Given the description of an element on the screen output the (x, y) to click on. 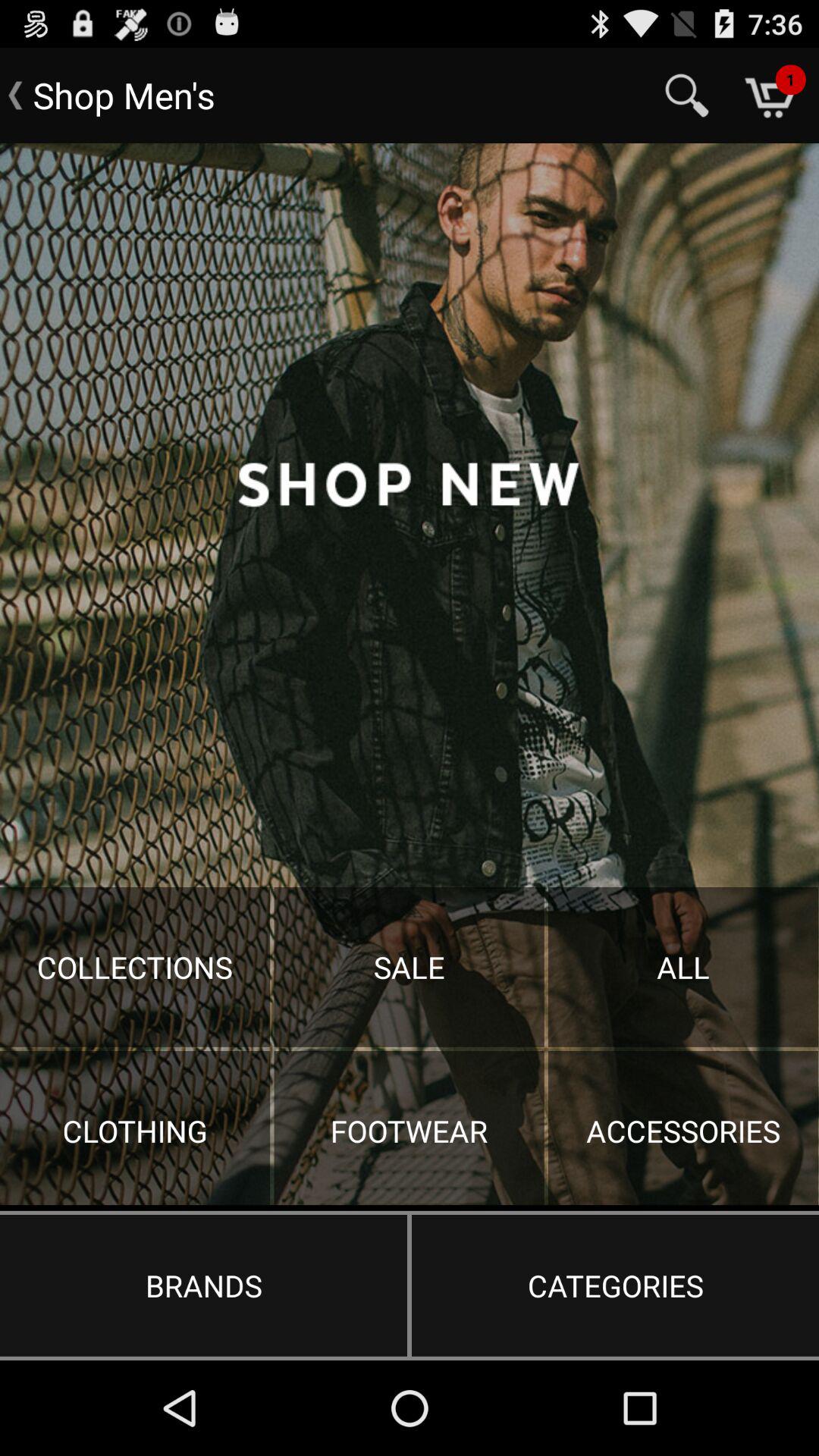
click to enter (409, 674)
